Given the description of an element on the screen output the (x, y) to click on. 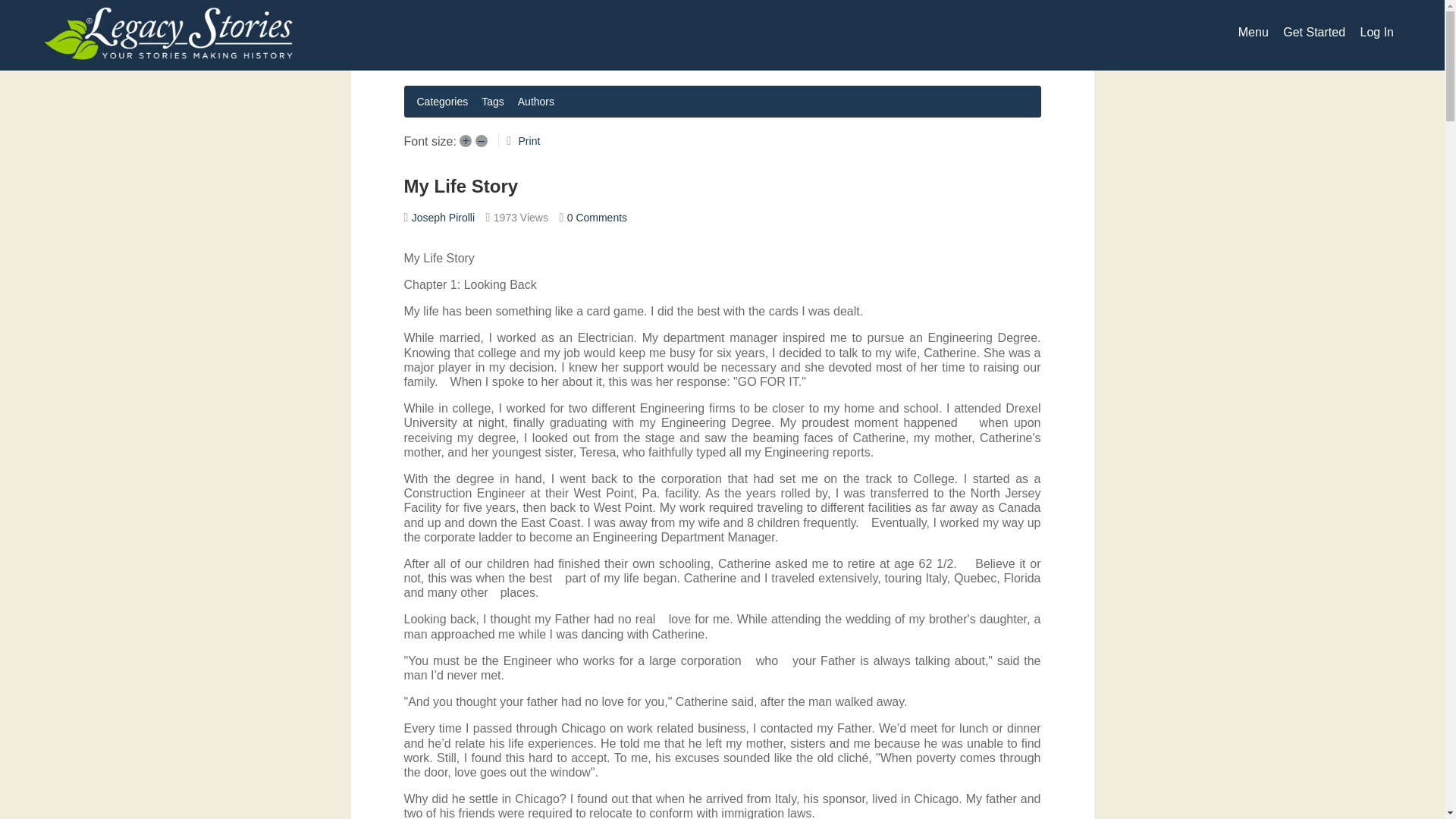
Print (529, 141)
Menu (1253, 31)
Joseph Pirolli (443, 217)
Log In (1376, 31)
Print (529, 141)
Get Started (1313, 31)
Categories (442, 101)
Tags (493, 101)
Authors (536, 101)
